Given the description of an element on the screen output the (x, y) to click on. 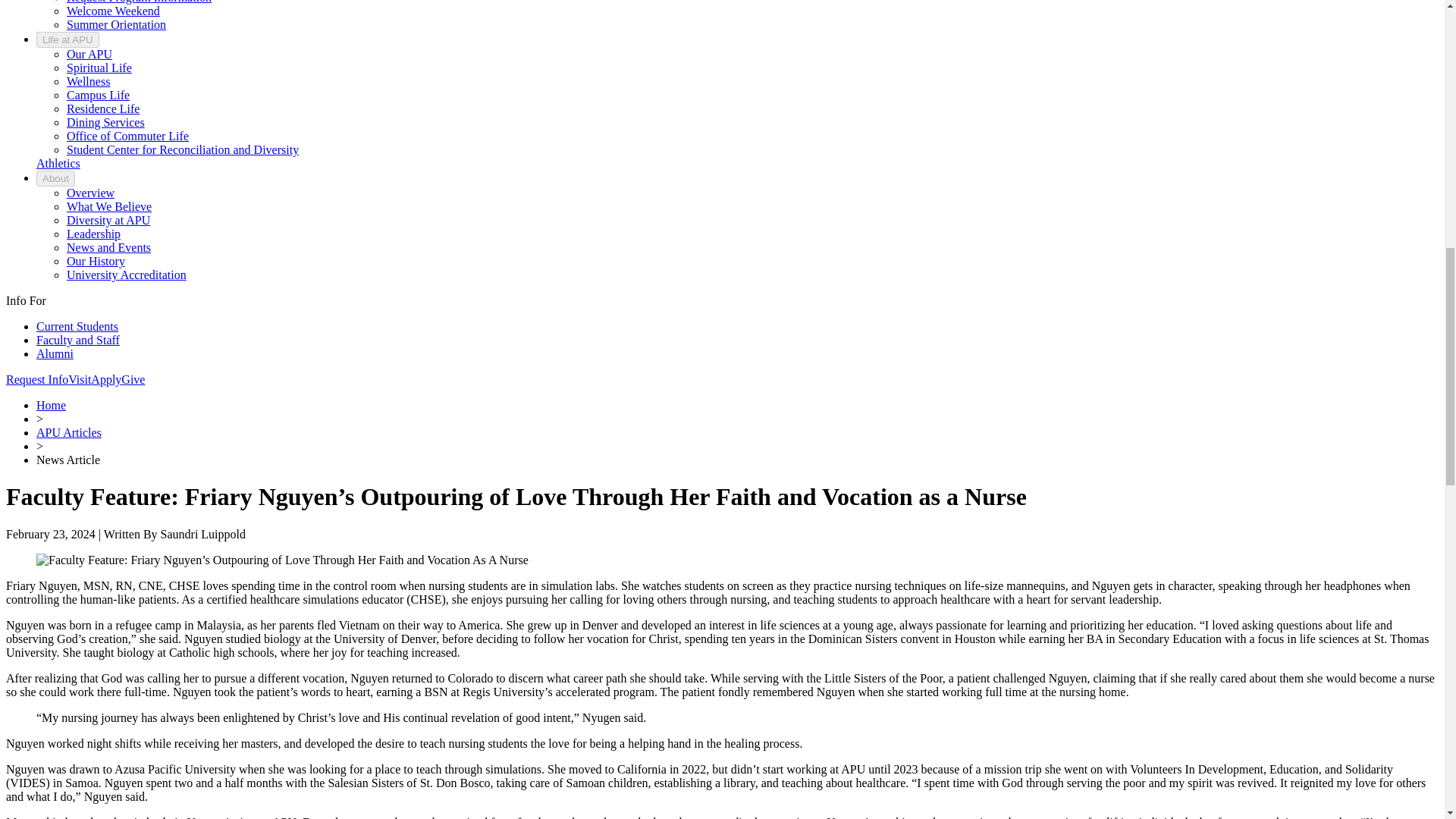
Welcome Weekend (113, 10)
Dining Services (105, 122)
Office of Commuter Life (127, 135)
Residence Life (102, 108)
Spiritual Life (99, 67)
Life at APU (67, 39)
Summer Orientation (115, 24)
Wellness (88, 81)
Student Center for Reconciliation and Diversity (182, 149)
Campus Life (97, 94)
Request Program Information (138, 2)
Our APU (89, 53)
